Given the description of an element on the screen output the (x, y) to click on. 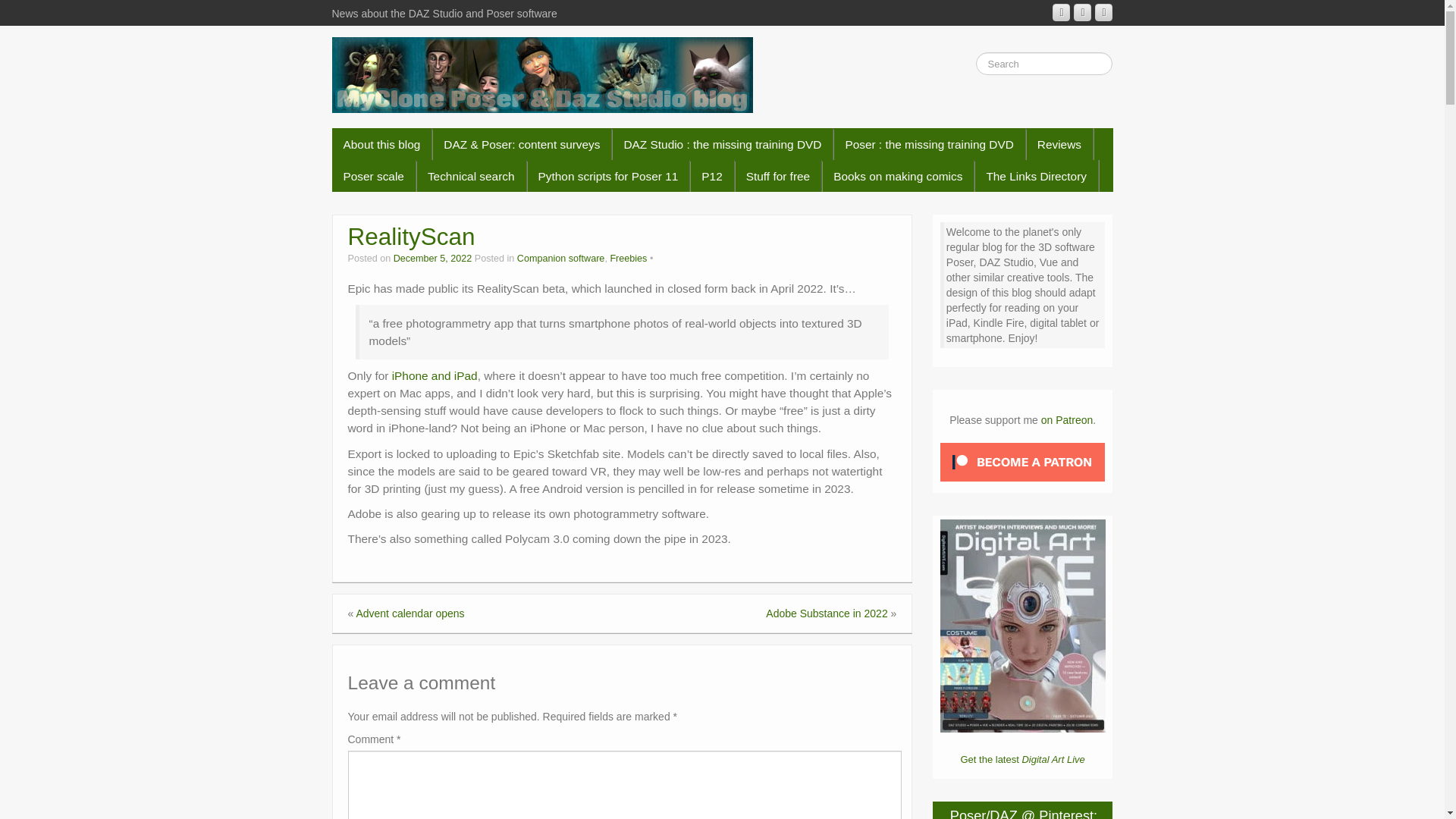
MyClone Poser and Daz Studio blog Twitter (1103, 12)
Companion software (560, 258)
December 5, 2022 (433, 258)
on Patreon (1067, 419)
Adobe Substance in 2022 (825, 613)
iPhone and iPad (434, 375)
DAZ Studio : the missing training DVD (721, 143)
Poser : the missing training DVD (928, 143)
About this blog (381, 143)
Stuff for free (778, 175)
